Given the description of an element on the screen output the (x, y) to click on. 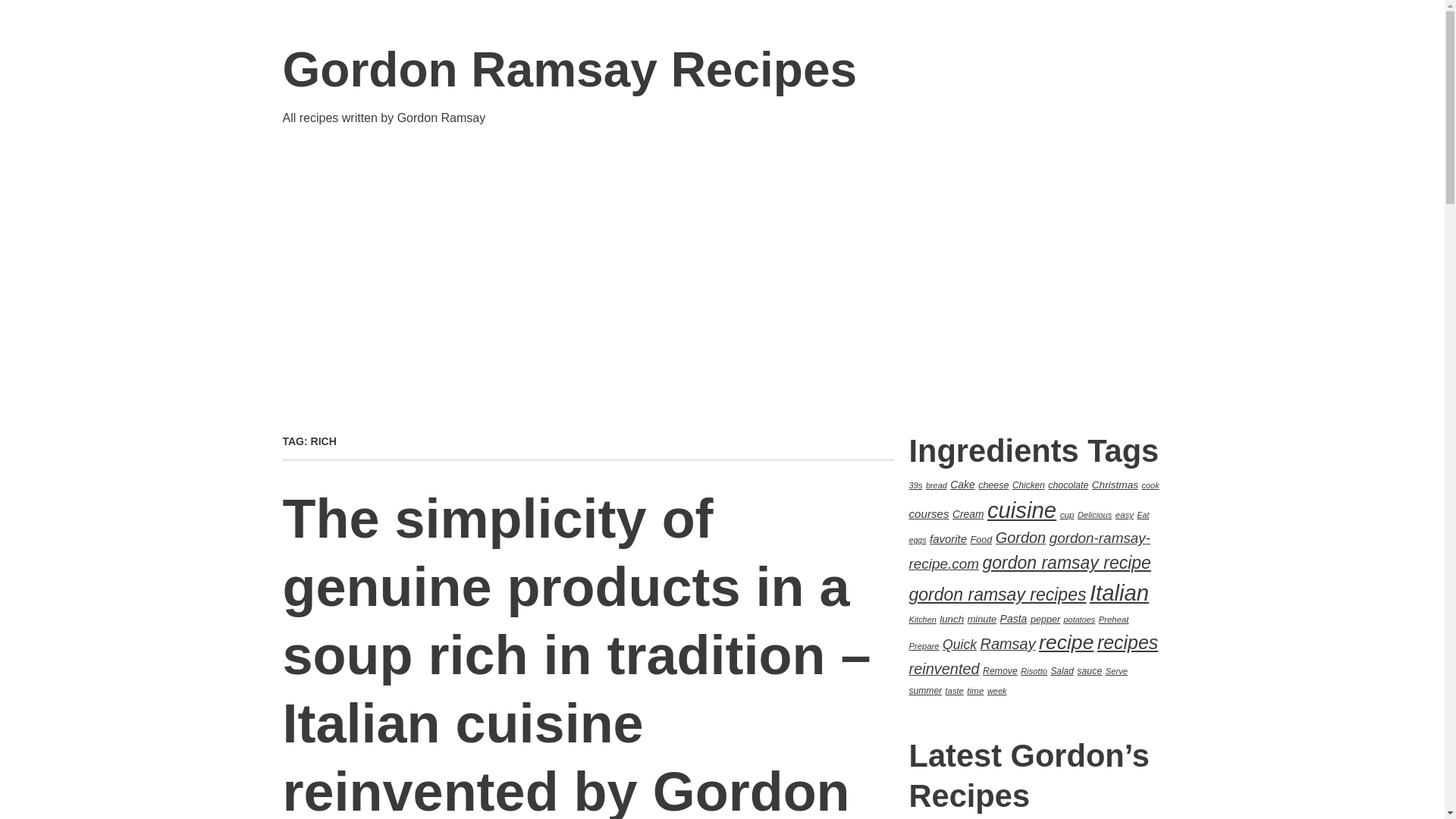
Chicken (1028, 484)
pepper (1044, 619)
courses (928, 513)
Cream (968, 513)
eggs (917, 539)
Kitchen (922, 619)
cup (1066, 514)
Food (981, 539)
Pasta (1013, 618)
Cake (962, 484)
